Given the description of an element on the screen output the (x, y) to click on. 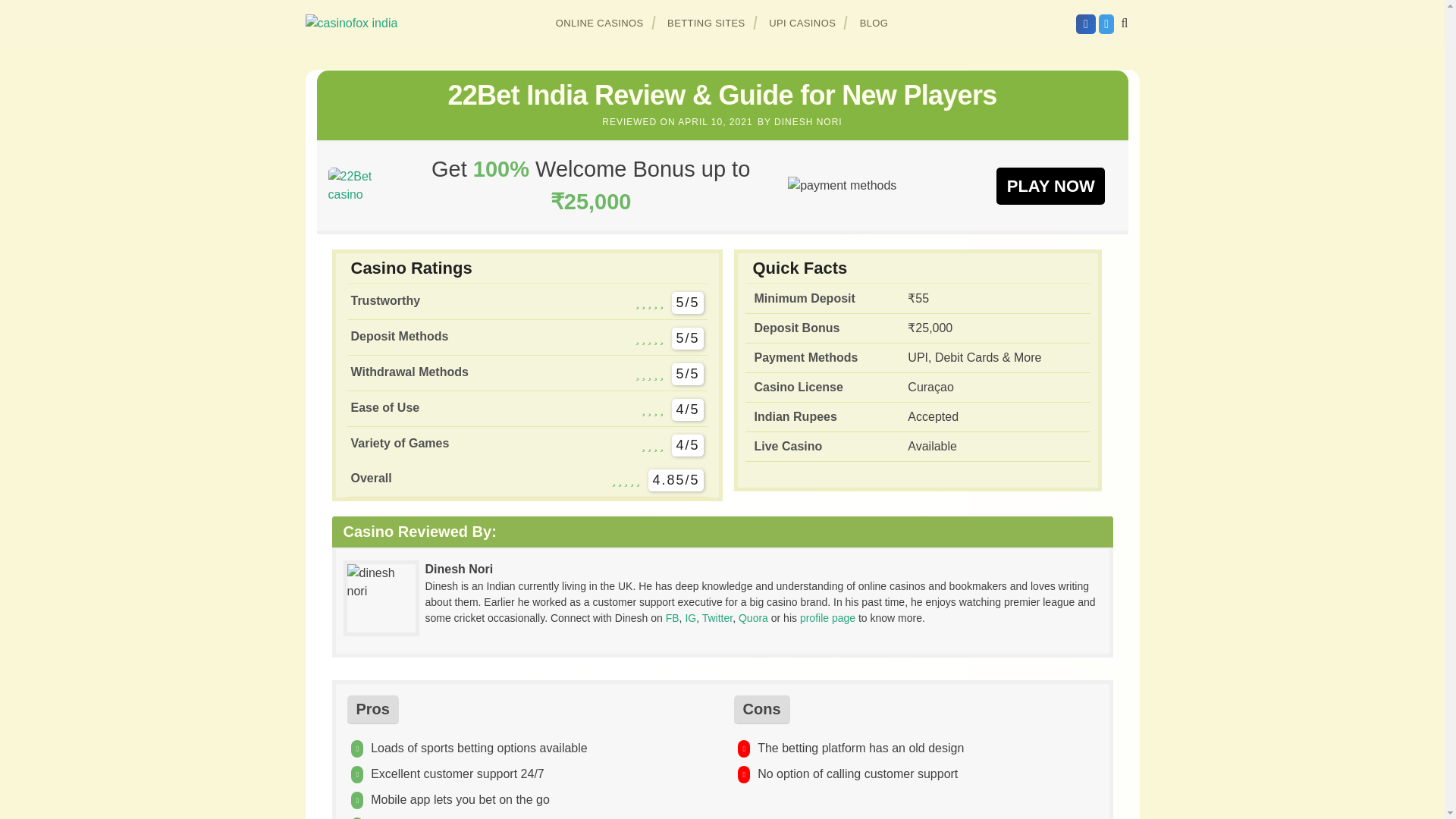
PLAY NOW (1050, 185)
UPI CASINOS (801, 23)
22Bet (1050, 185)
FB (672, 617)
Quora (753, 617)
BETTING SITES (706, 23)
BLOG (874, 23)
22Bet (360, 185)
profile page (827, 617)
IG (689, 617)
